Given the description of an element on the screen output the (x, y) to click on. 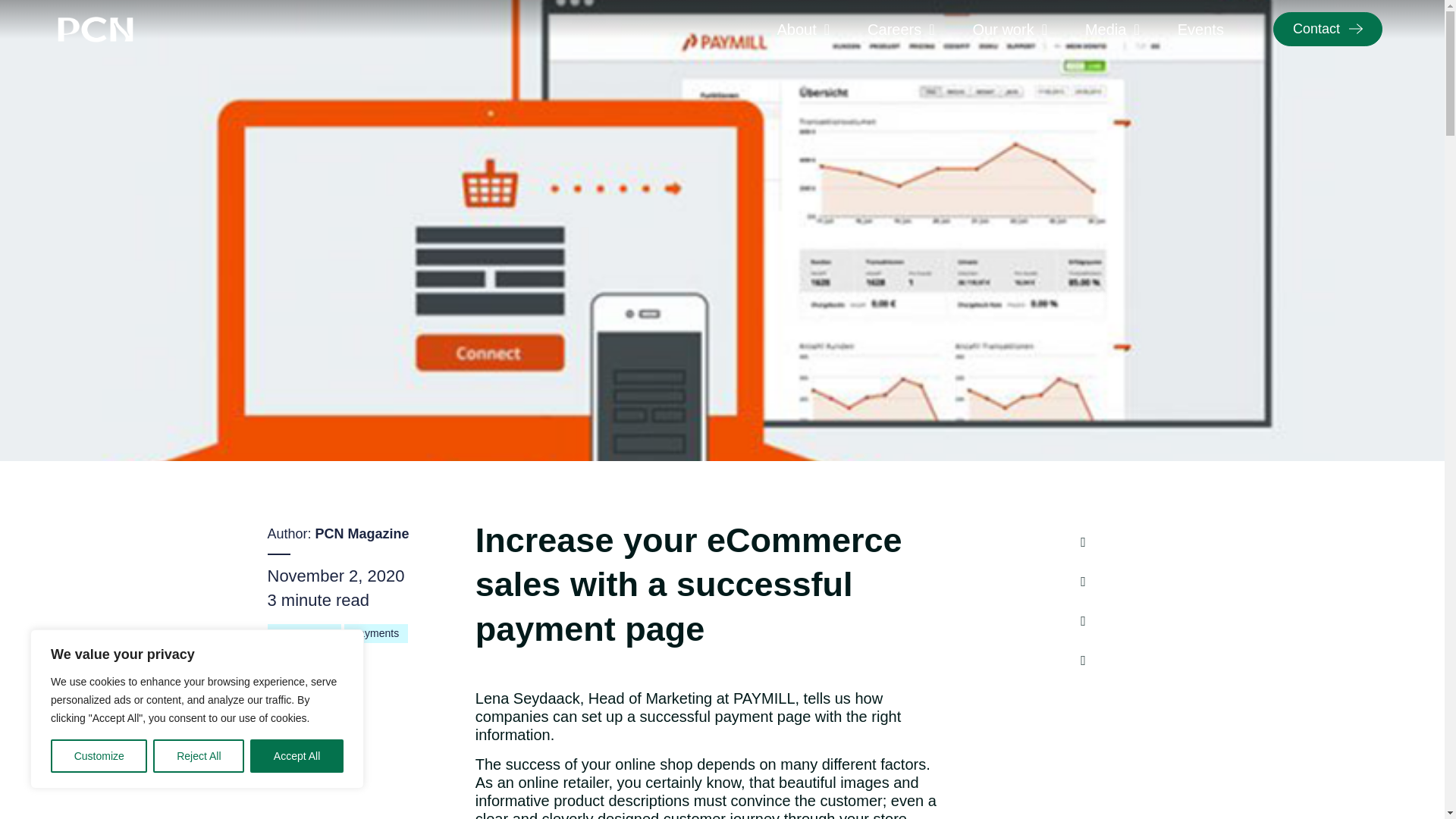
Our work (1010, 29)
Reject All (198, 756)
Careers (900, 29)
About (802, 29)
Customize (98, 756)
Accept All (296, 756)
Events (1200, 29)
Media (1111, 29)
